Given the description of an element on the screen output the (x, y) to click on. 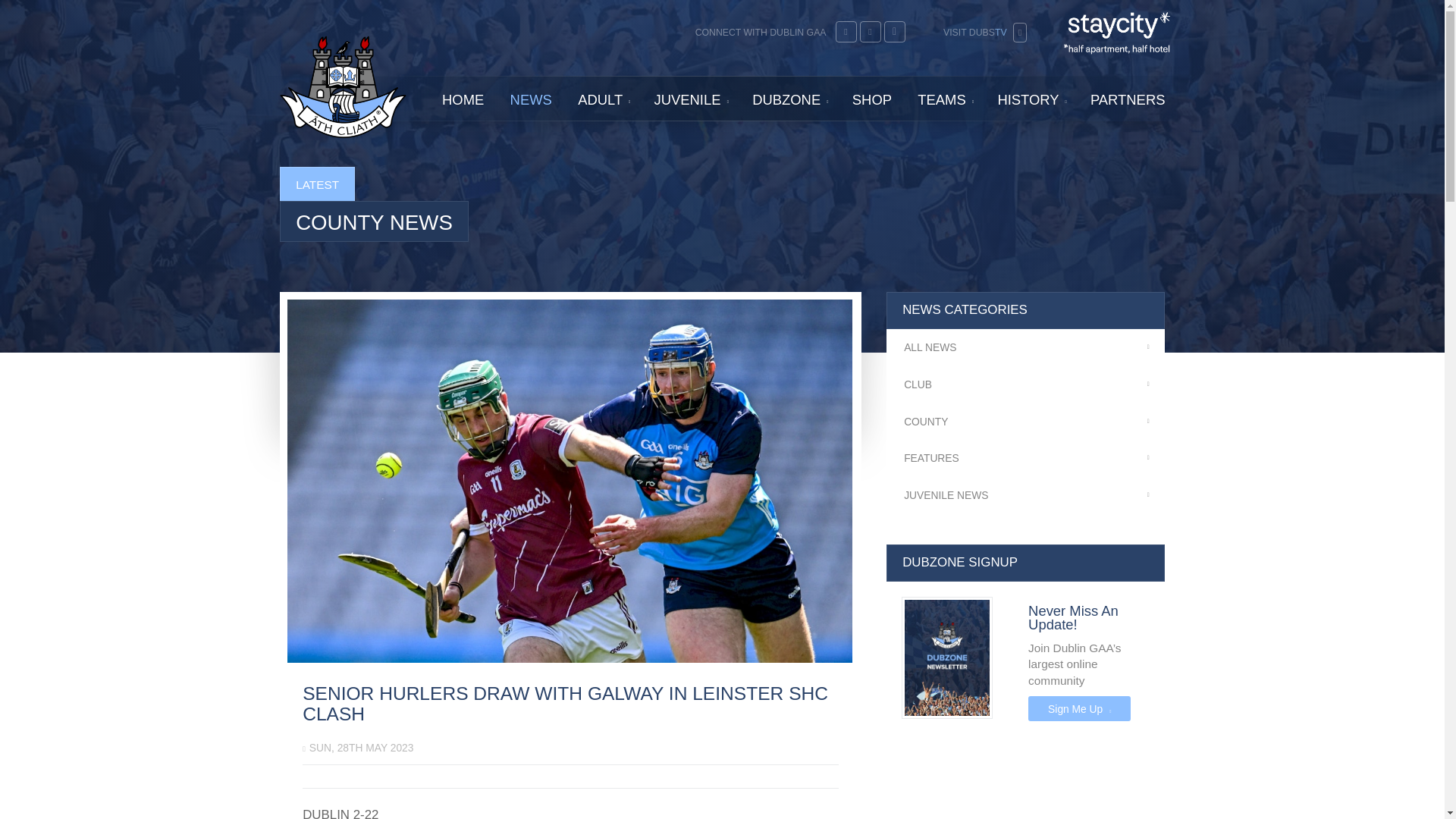
ALL NEWS (1025, 347)
PARTNERS (1127, 98)
COUNTY (1025, 421)
NEWS (531, 98)
TEAMS (943, 98)
HISTORY (1030, 98)
SHOP (871, 98)
HOME (462, 98)
ADULT (602, 98)
DUBZONE (789, 98)
